Given the description of an element on the screen output the (x, y) to click on. 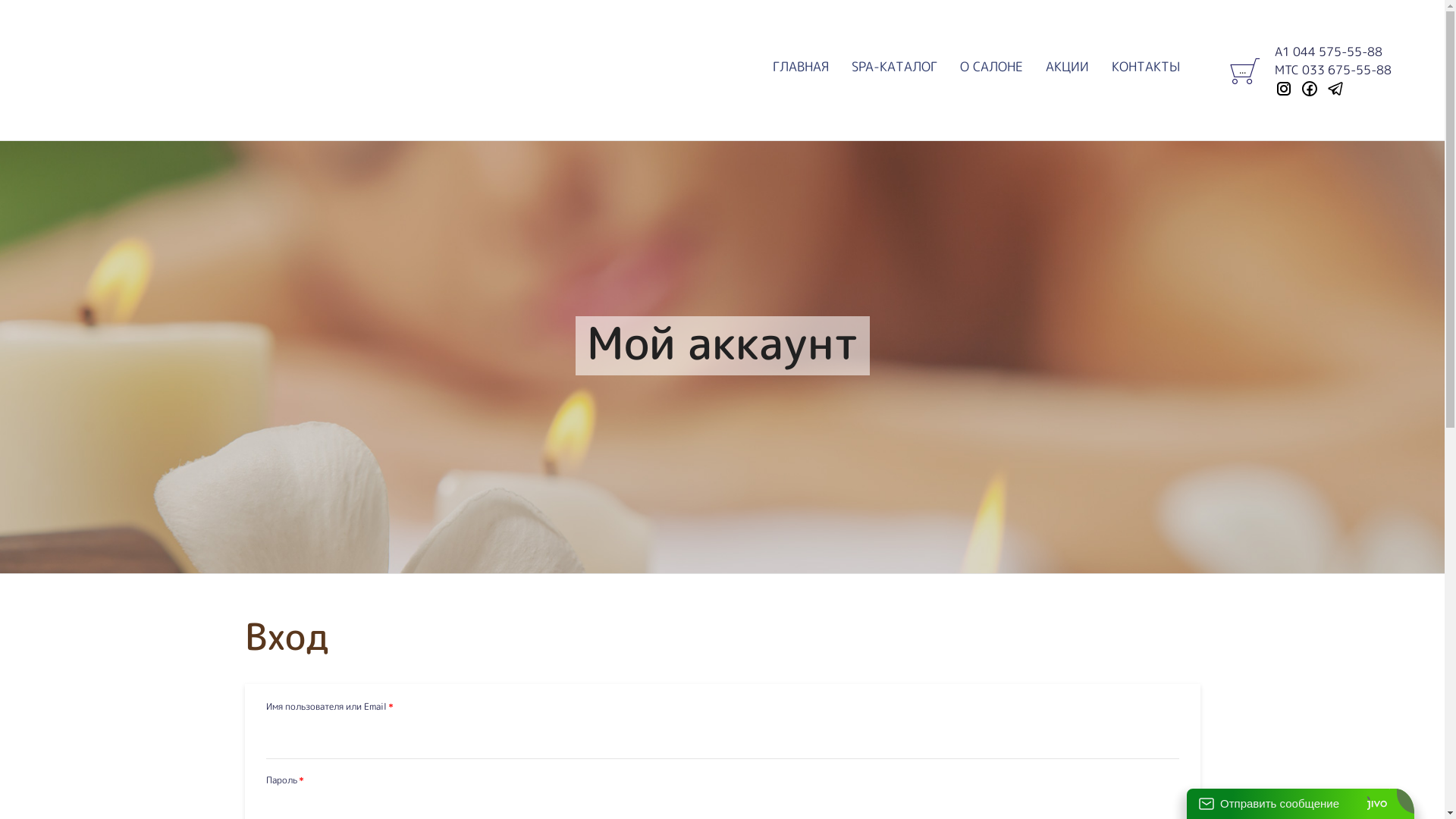
MTC 033 675-55-88 Element type: text (1332, 69)
A1 044 575-55-88 Element type: text (1328, 51)
Skip to content Element type: text (1209, 56)
